Given the description of an element on the screen output the (x, y) to click on. 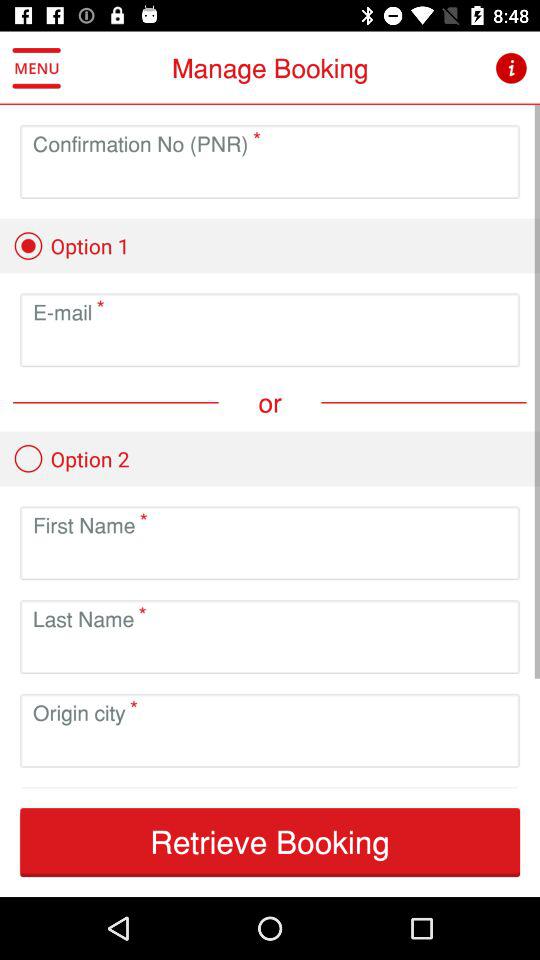
open the retrieve booking (269, 842)
